Given the description of an element on the screen output the (x, y) to click on. 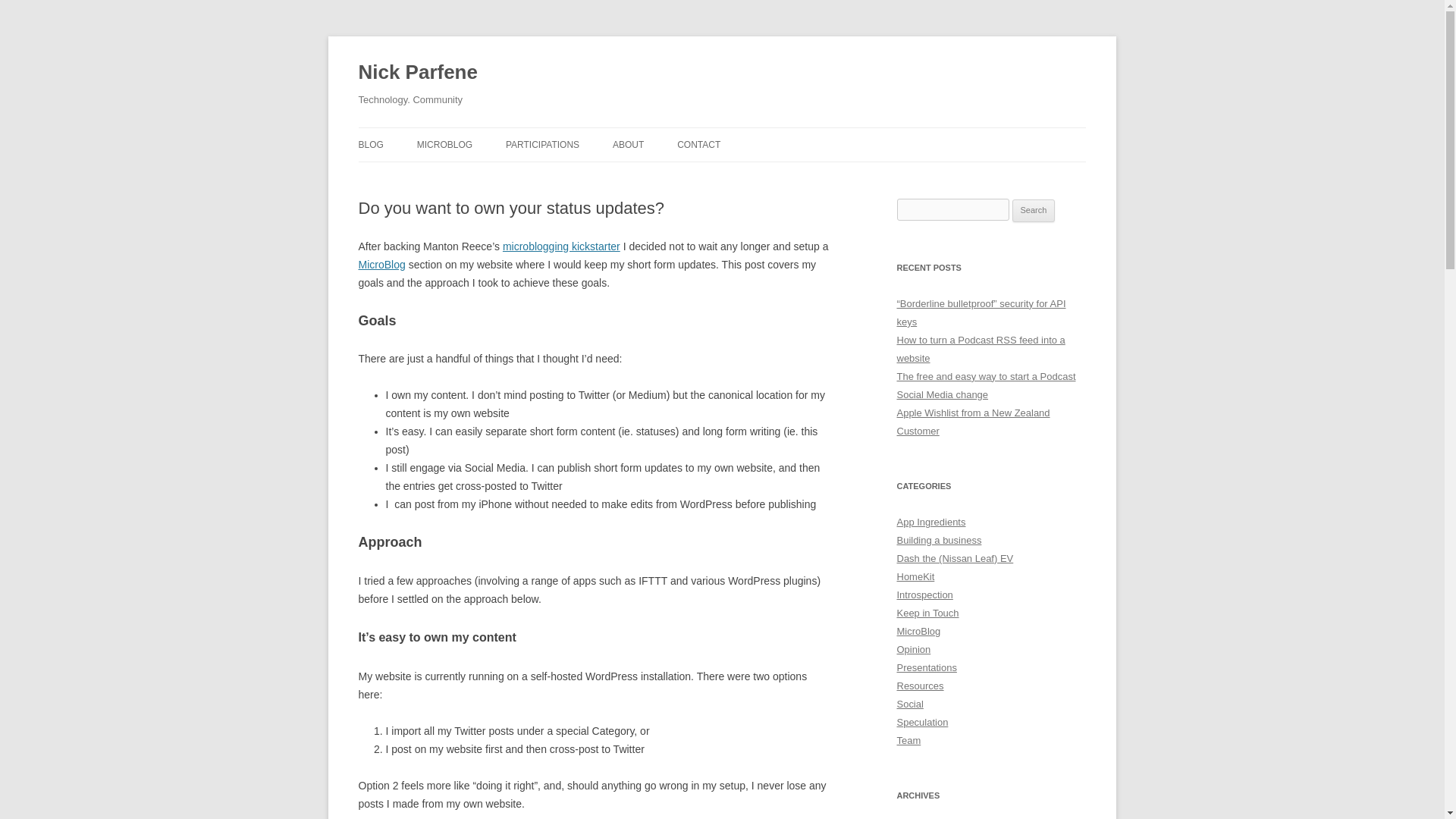
The free and easy way to start a Podcast (985, 376)
PARTICIPATIONS (542, 144)
App Ingredients (930, 521)
How to turn a Podcast RSS feed into a website (980, 348)
Introspection (924, 594)
MicroBlog (918, 631)
Keep in Touch (927, 613)
Nick Parfene (417, 72)
ABOUT (627, 144)
MicroBlog (381, 264)
Building a business (938, 540)
Apple Wishlist from a New Zealand Customer (972, 421)
Social Media change (942, 394)
MICROBLOG (443, 144)
